Given the description of an element on the screen output the (x, y) to click on. 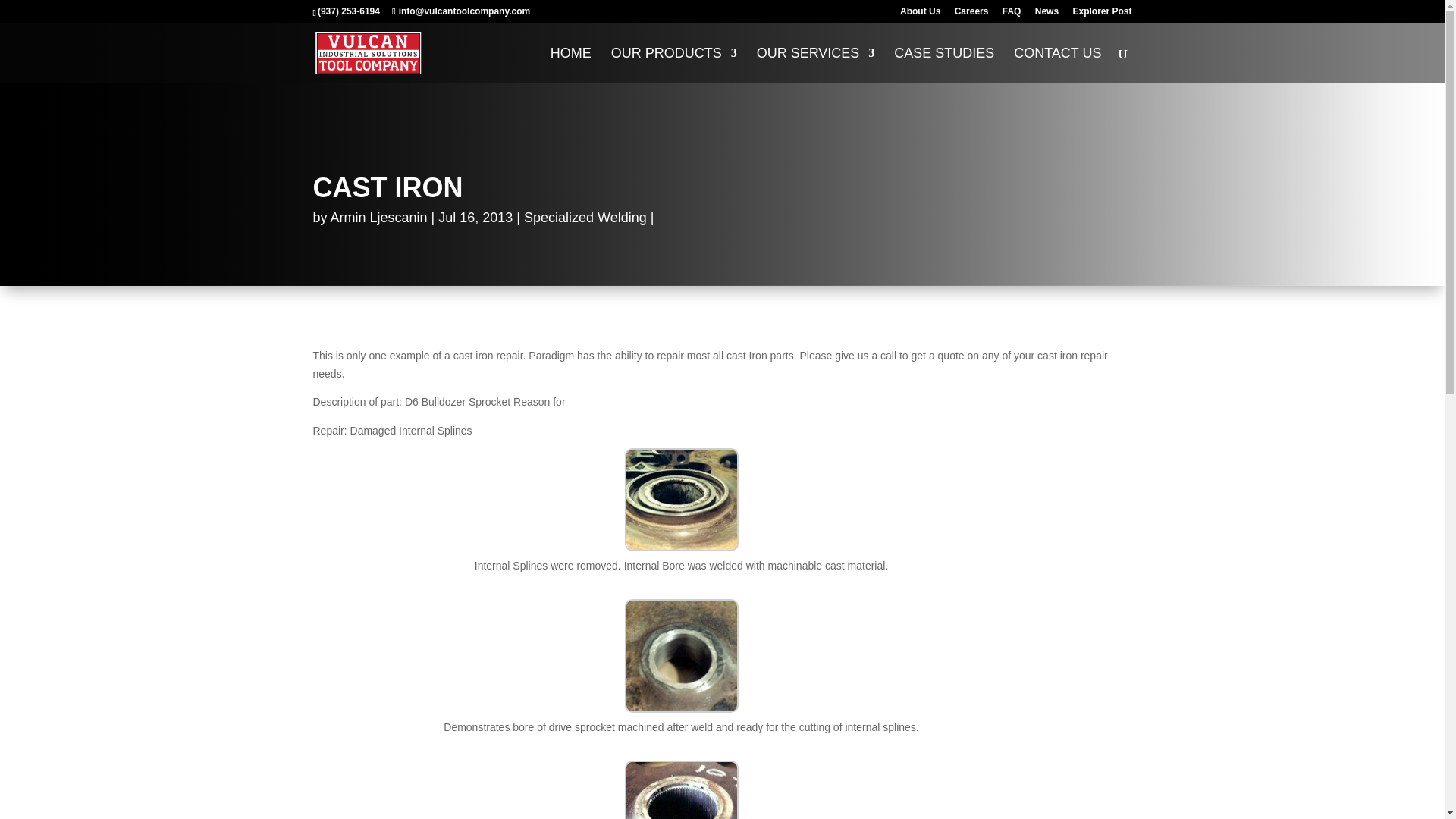
Armin Ljescanin (379, 217)
Posts by Armin Ljescanin (379, 217)
About Us (919, 14)
Careers (971, 14)
OUR SERVICES (816, 65)
CONTACT US (1056, 65)
OUR PRODUCTS (673, 65)
Explorer Post (1101, 14)
News (1046, 14)
FAQ (1012, 14)
